Given the description of an element on the screen output the (x, y) to click on. 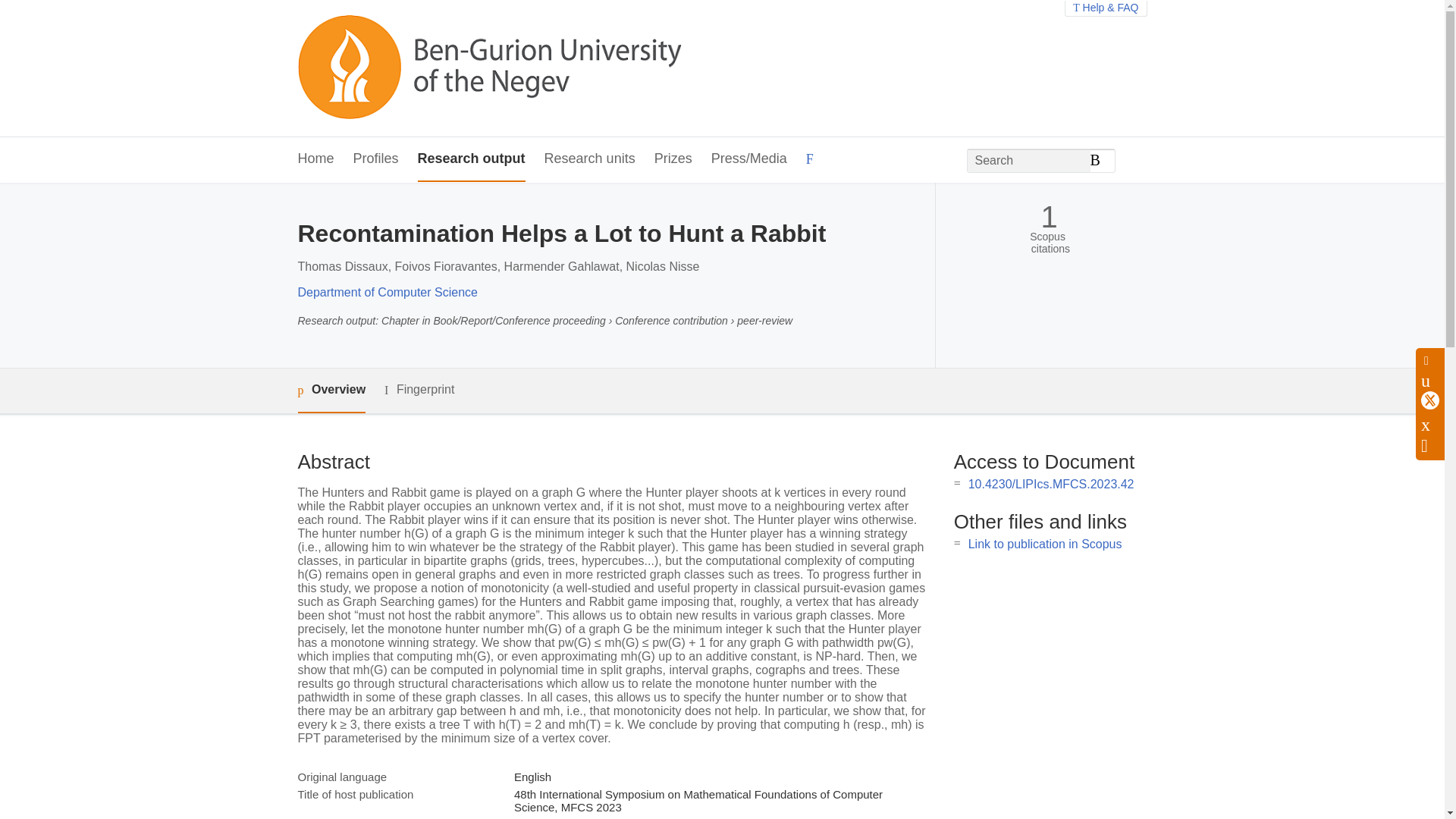
Fingerprint (419, 389)
Overview (331, 390)
Profiles (375, 159)
Link to publication in Scopus (1045, 543)
Ben-Gurion University Research Portal Home (489, 68)
Research output (471, 159)
Department of Computer Science (387, 291)
Research units (589, 159)
